Given the description of an element on the screen output the (x, y) to click on. 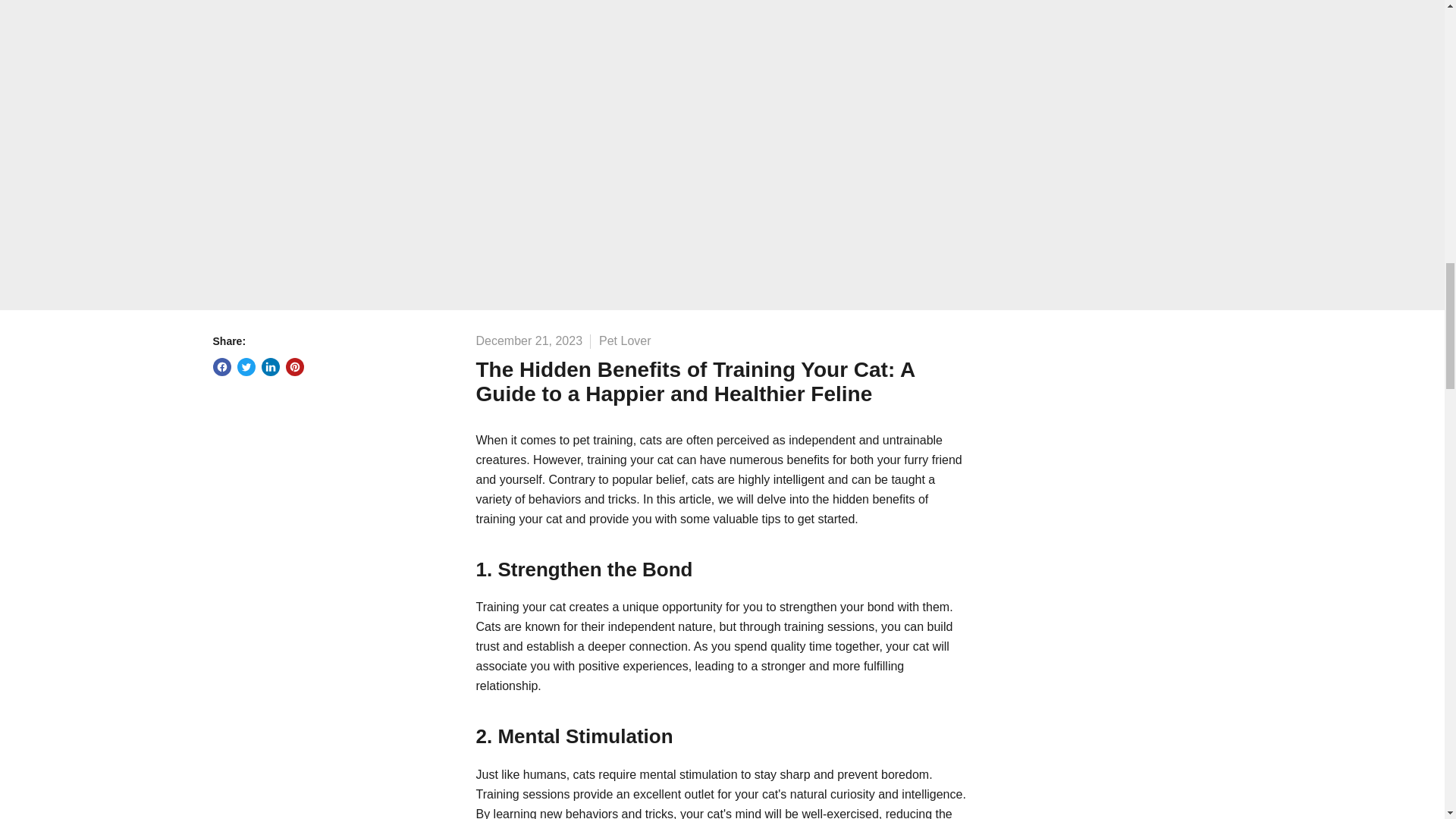
Tweet on Twitter (244, 366)
Pin on Pinterest (293, 366)
Share on Facebook (221, 366)
Share on LinkedIn (269, 366)
